Given the description of an element on the screen output the (x, y) to click on. 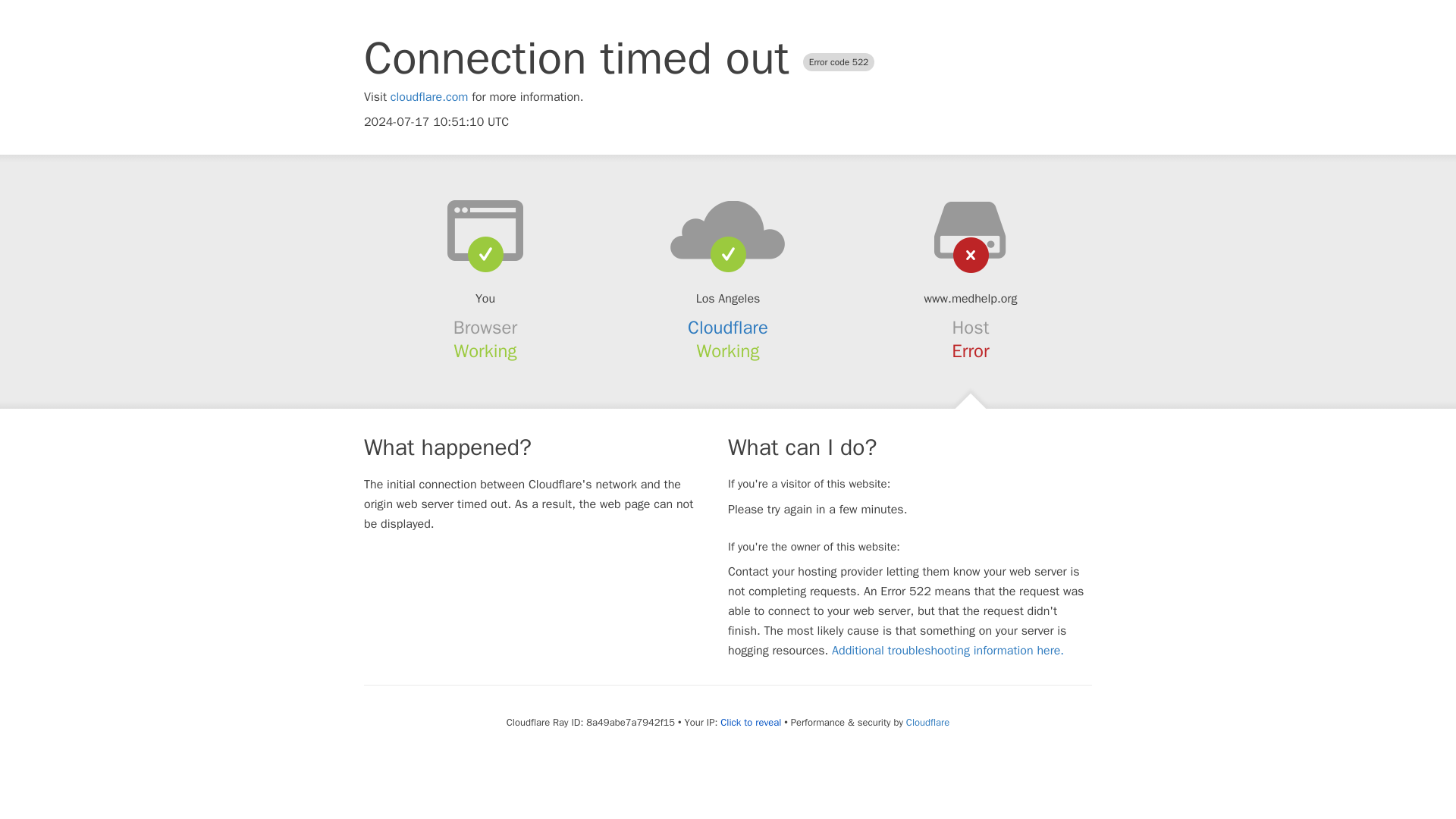
Additional troubleshooting information here. (947, 650)
Cloudflare (927, 721)
cloudflare.com (429, 96)
Click to reveal (750, 722)
Cloudflare (727, 327)
